Given the description of an element on the screen output the (x, y) to click on. 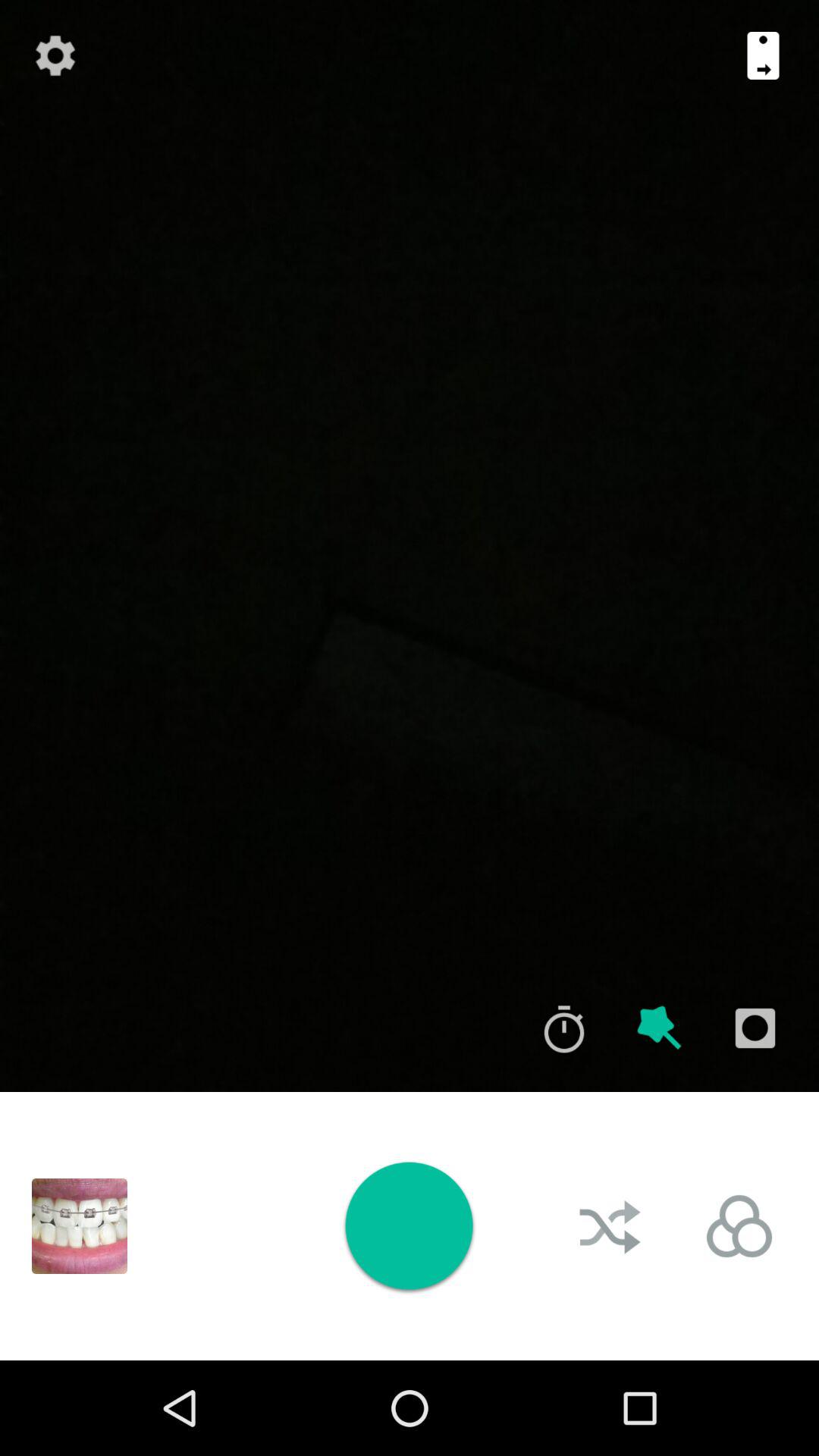
select as favorite (659, 1028)
